Given the description of an element on the screen output the (x, y) to click on. 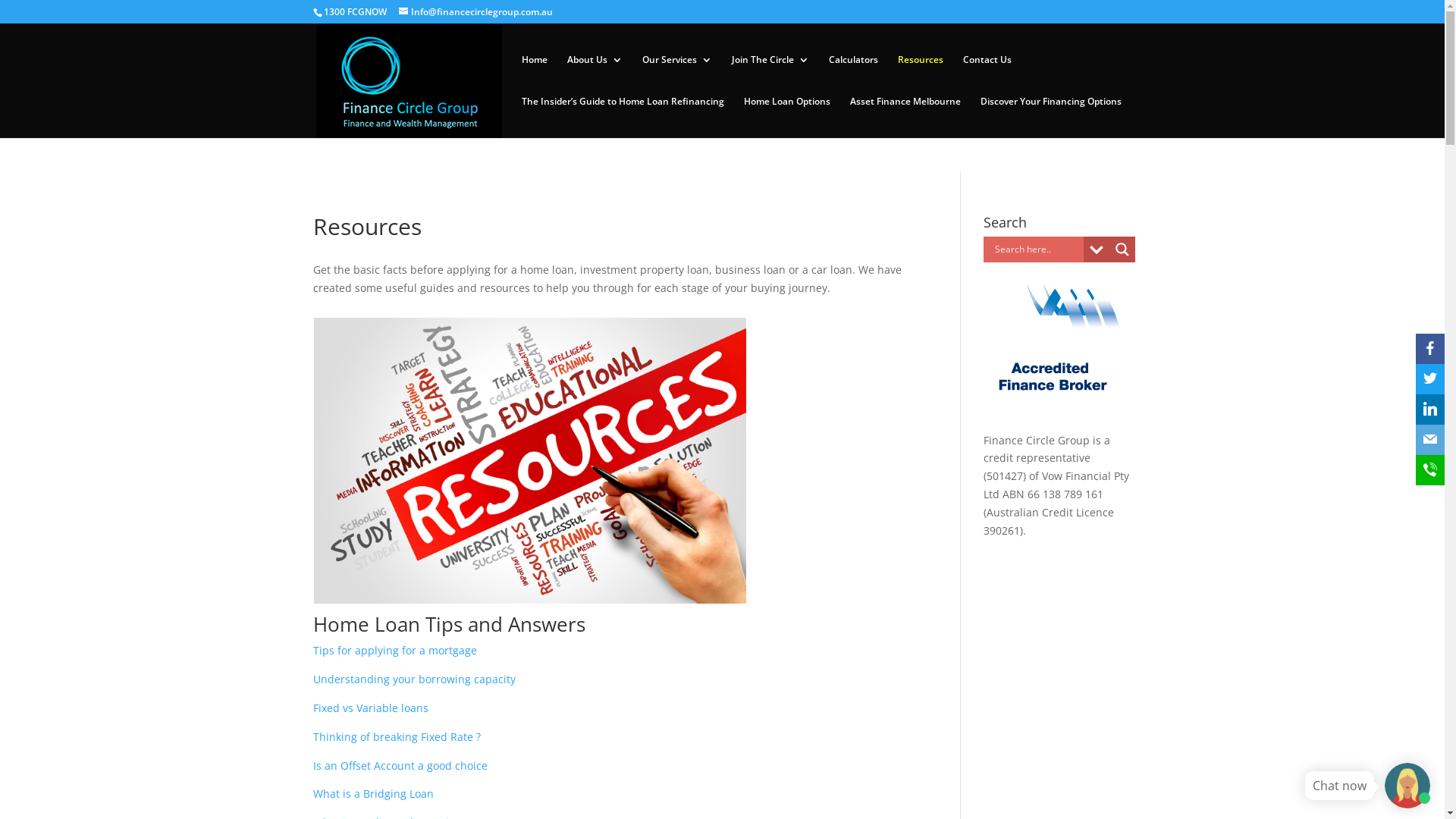
Join The Circle Element type: text (769, 75)
Contact Us Element type: text (1263, 16)
Thinking of breaking Fixed Rate ? Element type: text (396, 736)
Our Services Element type: text (676, 75)
Asset Finance Melbourne Element type: text (904, 117)
What is a Bridging Loan Element type: text (372, 793)
Home Element type: text (534, 75)
Home Loan Options Element type: text (786, 117)
Call Us Element type: text (1319, 16)
Is an Offset Account a good choice Element type: text (399, 765)
Email Us Element type: text (1386, 16)
Understanding your borrowing capacity Element type: text (413, 678)
Calculators Element type: text (852, 75)
Contact Us Element type: text (987, 75)
Fixed vs Variable loans Element type: text (369, 707)
About Us Element type: text (594, 75)
Discover Your Financing Options Element type: text (1049, 117)
Tips for applying for a mortgage Element type: text (394, 650)
Info@financecirclegroup.com.au Element type: text (475, 11)
Resources Element type: text (920, 75)
